Given the description of an element on the screen output the (x, y) to click on. 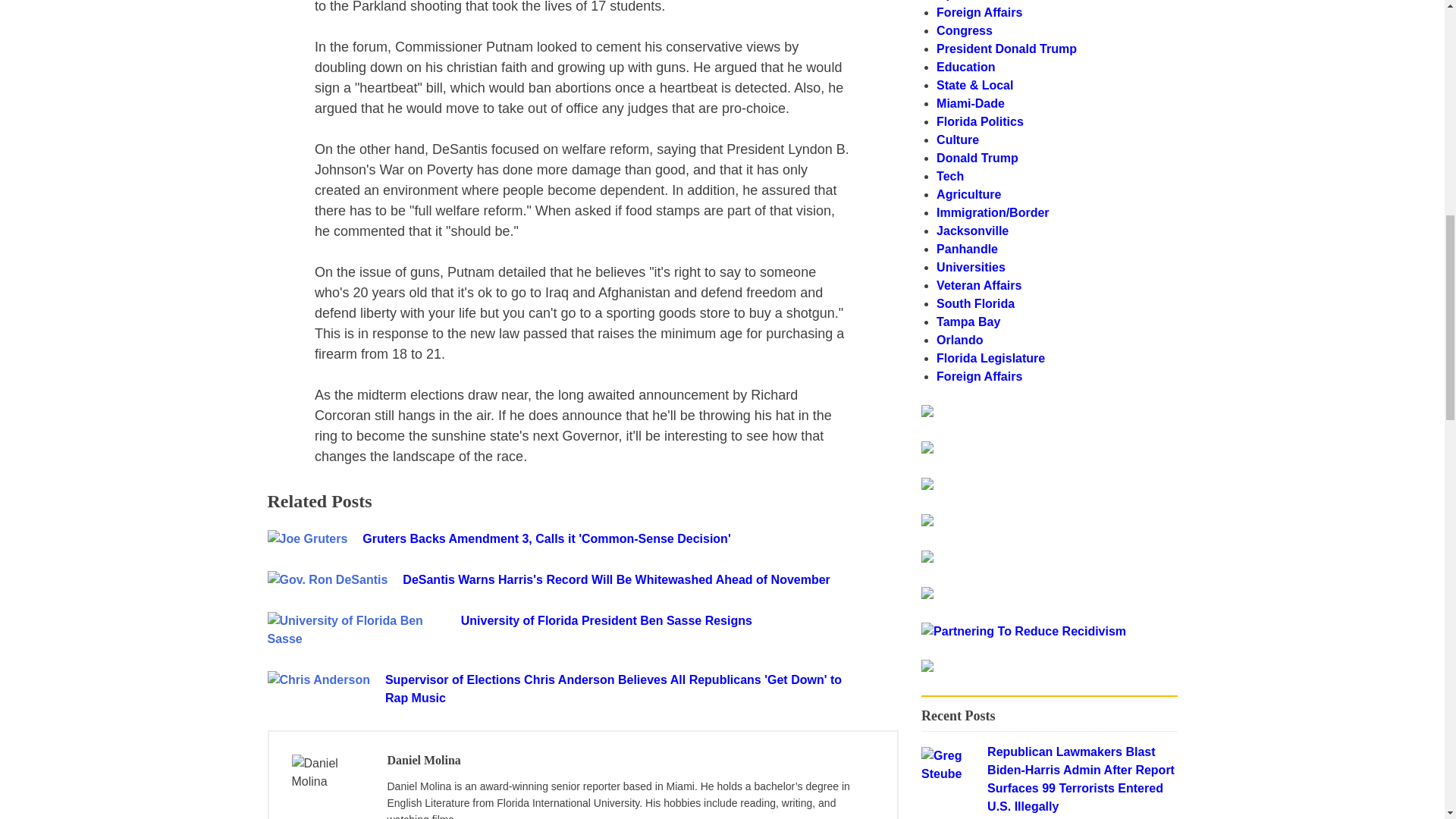
Partnering To Reduce Recidivism (1023, 631)
Search (1138, 419)
Partnering To Reduce Recidivism (1023, 631)
Partnering To Reduce Recidivism (927, 667)
Search (1138, 419)
Gruters Backs Amendment 3, Calls it 'Common-Sense Decision' (598, 538)
University of Florida President Ben Sasse Resigns (679, 620)
Partnering To Reduce Recidivism (927, 412)
Search (1138, 419)
